Given the description of an element on the screen output the (x, y) to click on. 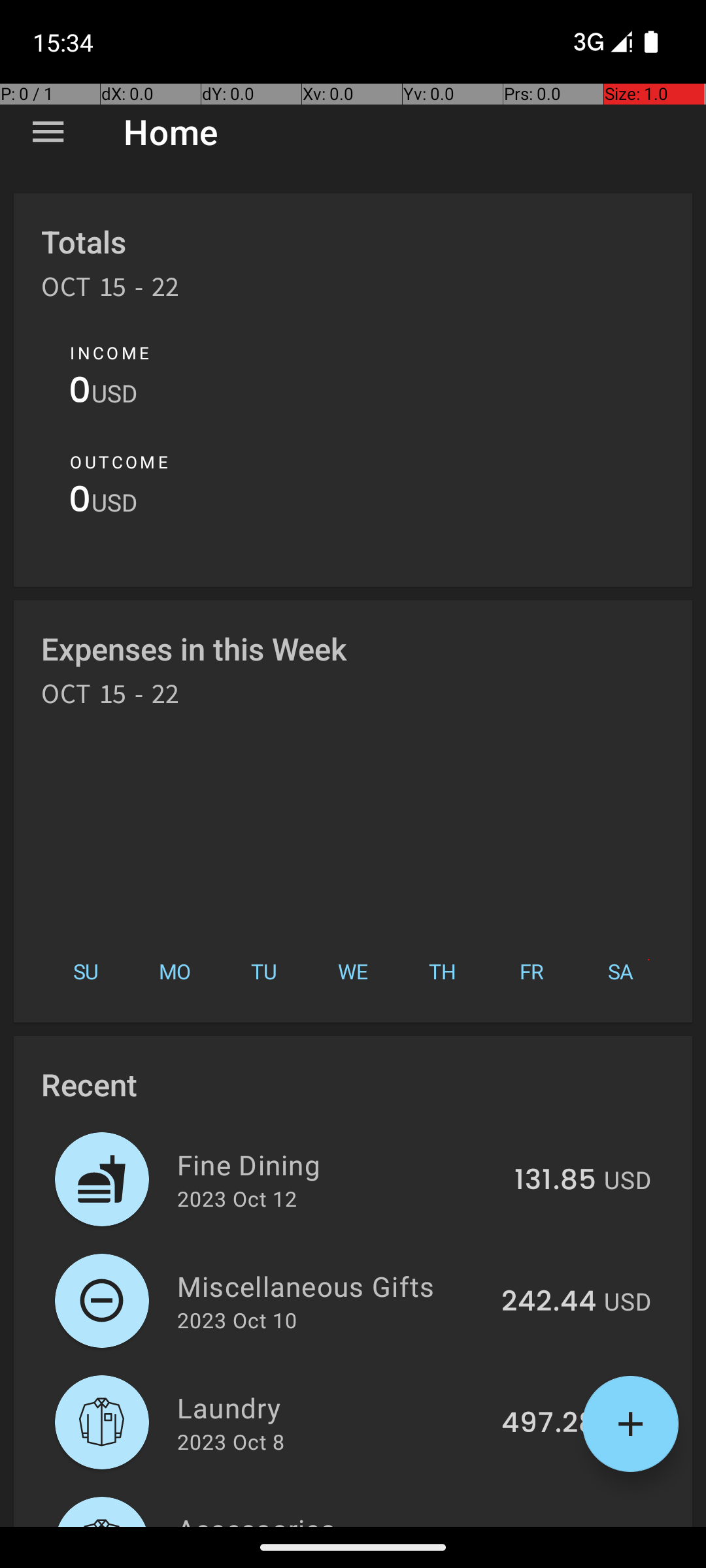
Fine Dining Element type: android.widget.TextView (338, 1164)
131.85 Element type: android.widget.TextView (554, 1180)
Miscellaneous Gifts Element type: android.widget.TextView (331, 1285)
2023 Oct 10 Element type: android.widget.TextView (236, 1320)
242.44 Element type: android.widget.TextView (548, 1301)
Laundry Element type: android.widget.TextView (331, 1407)
2023 Oct 8 Element type: android.widget.TextView (230, 1441)
497.28 Element type: android.widget.TextView (548, 1423)
Accessories Element type: android.widget.TextView (332, 1518)
233.62 Element type: android.widget.TextView (549, 1524)
